Given the description of an element on the screen output the (x, y) to click on. 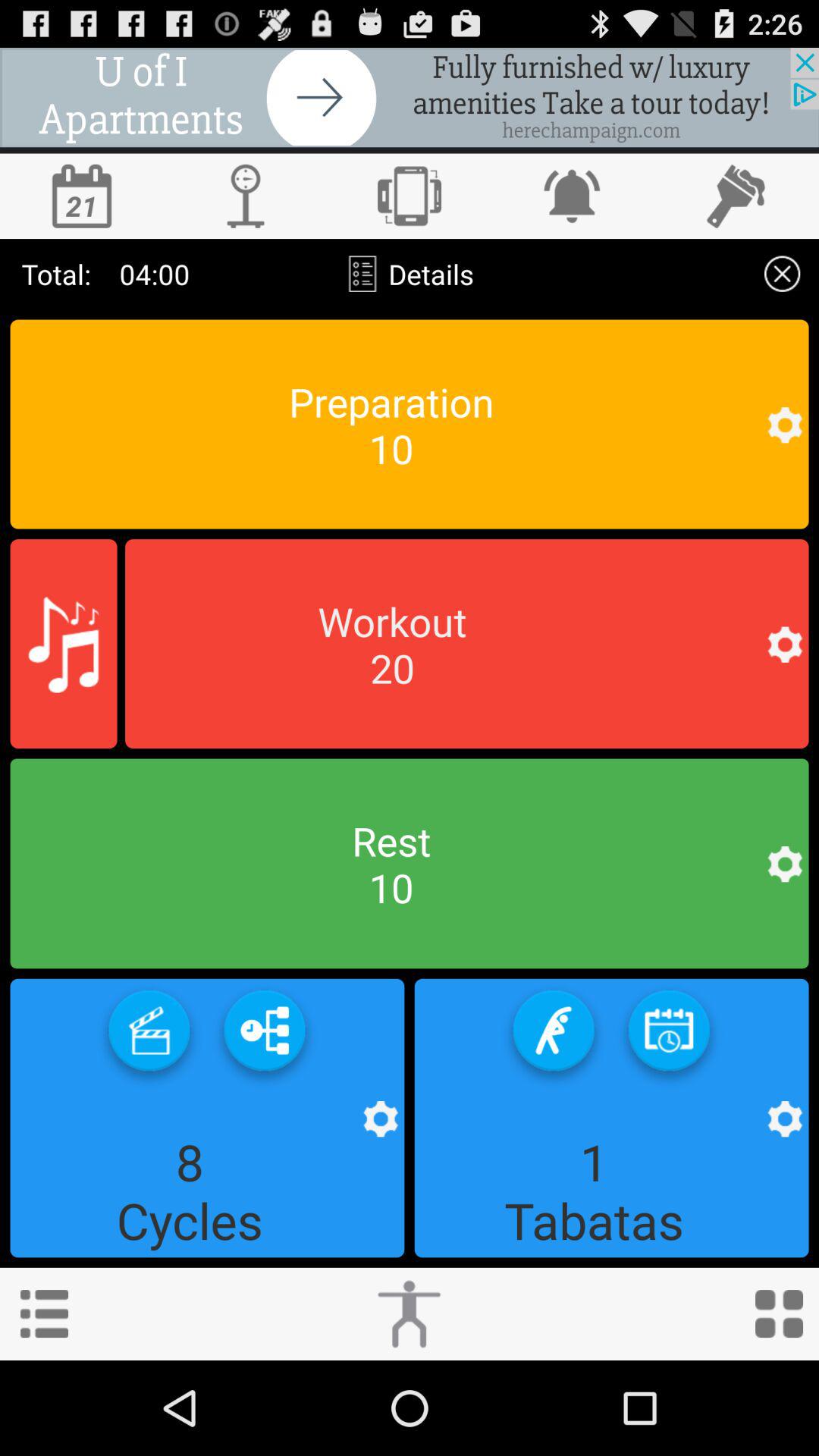
delete item (782, 273)
